Given the description of an element on the screen output the (x, y) to click on. 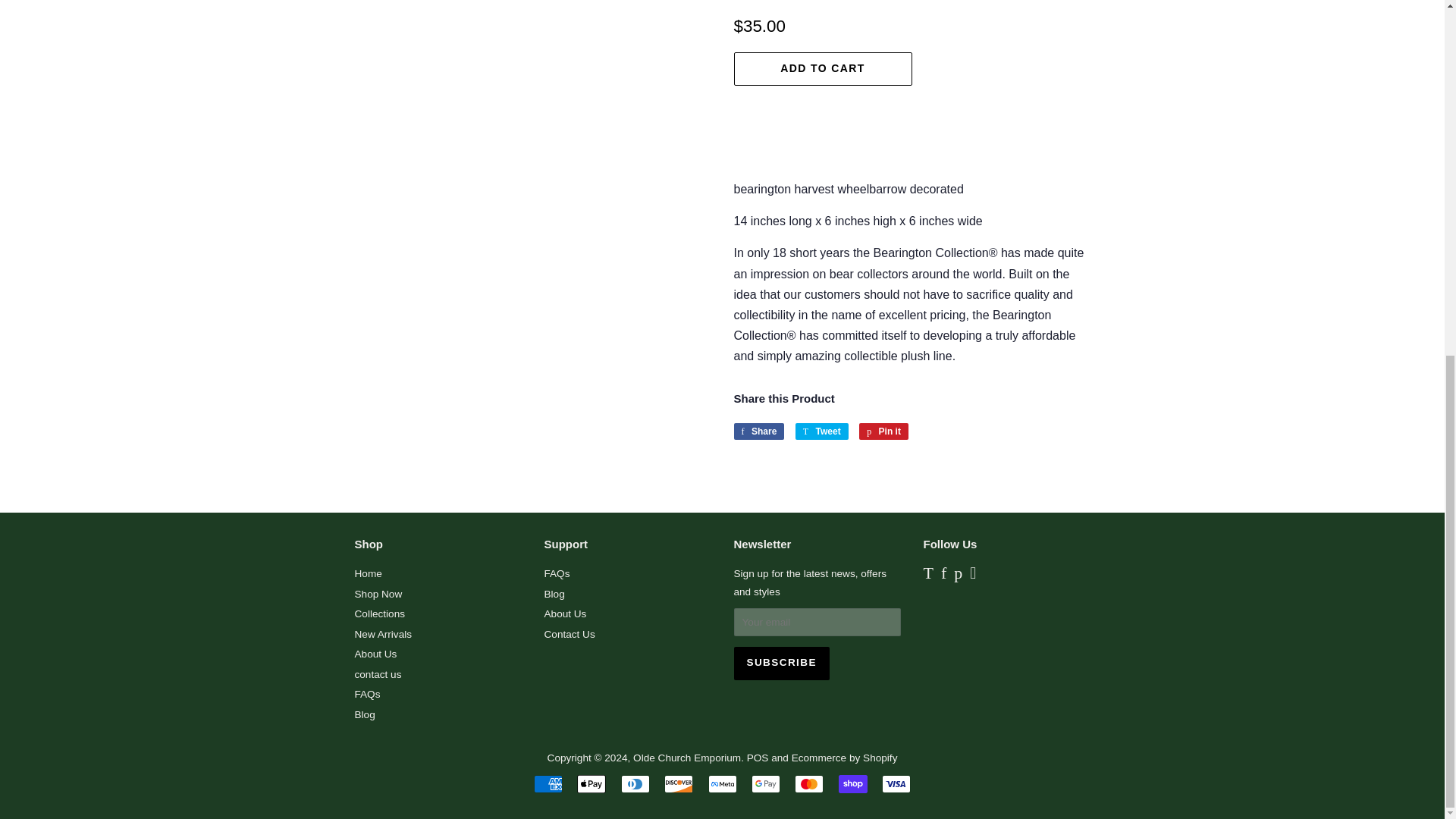
American Express (548, 783)
Shop Pay (852, 783)
Apple Pay (590, 783)
Google Pay (765, 783)
Share on Facebook (758, 431)
Subscribe (781, 663)
Mastercard (809, 783)
Pin on Pinterest (883, 431)
Meta Pay (721, 783)
Visa (896, 783)
